Given the description of an element on the screen output the (x, y) to click on. 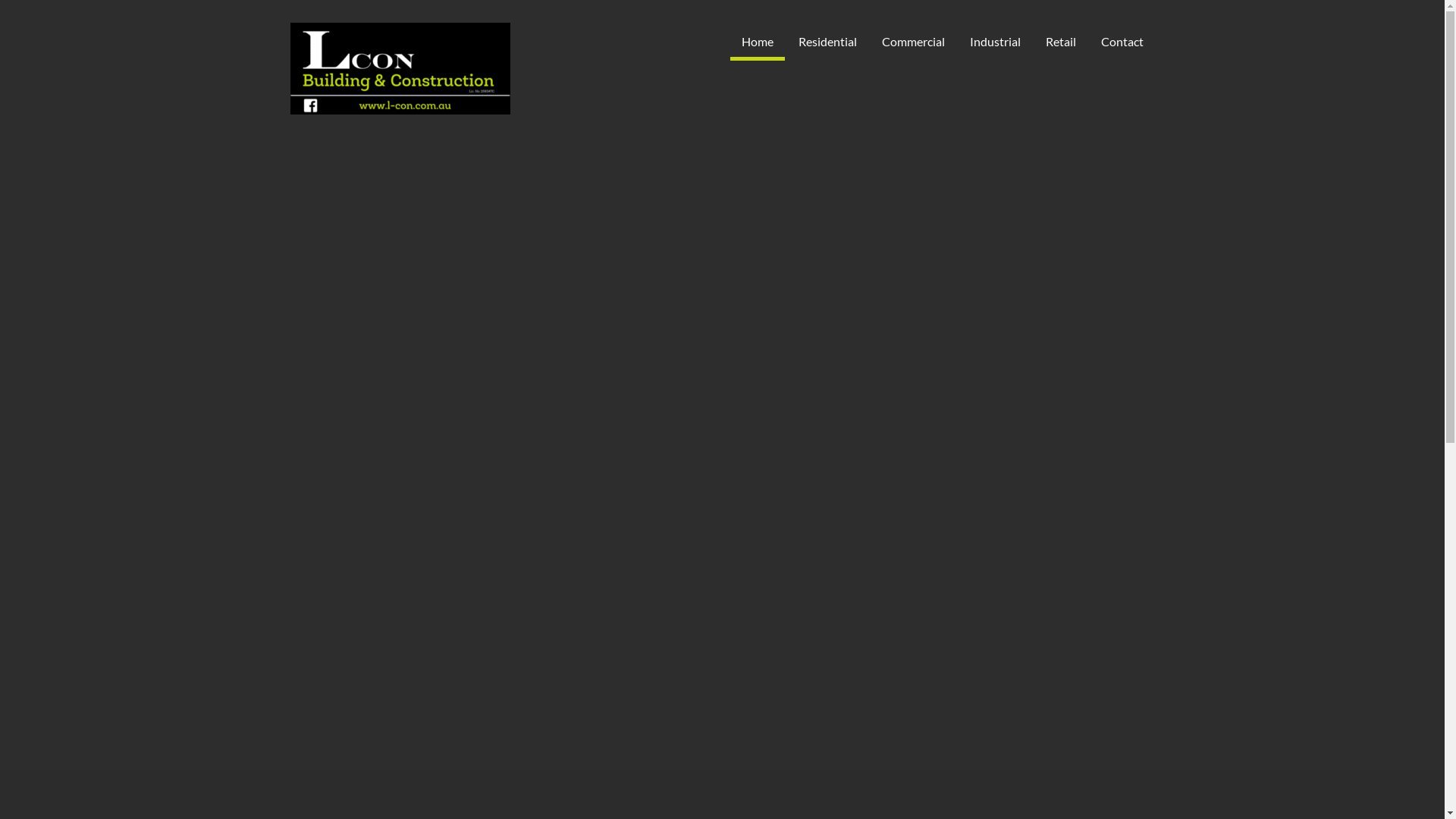
Contact Element type: text (1121, 41)
Home Element type: text (756, 41)
Retail Element type: text (1060, 41)
Commercial Element type: text (913, 41)
Industrial Element type: text (995, 41)
Residential Element type: text (827, 41)
